Given the description of an element on the screen output the (x, y) to click on. 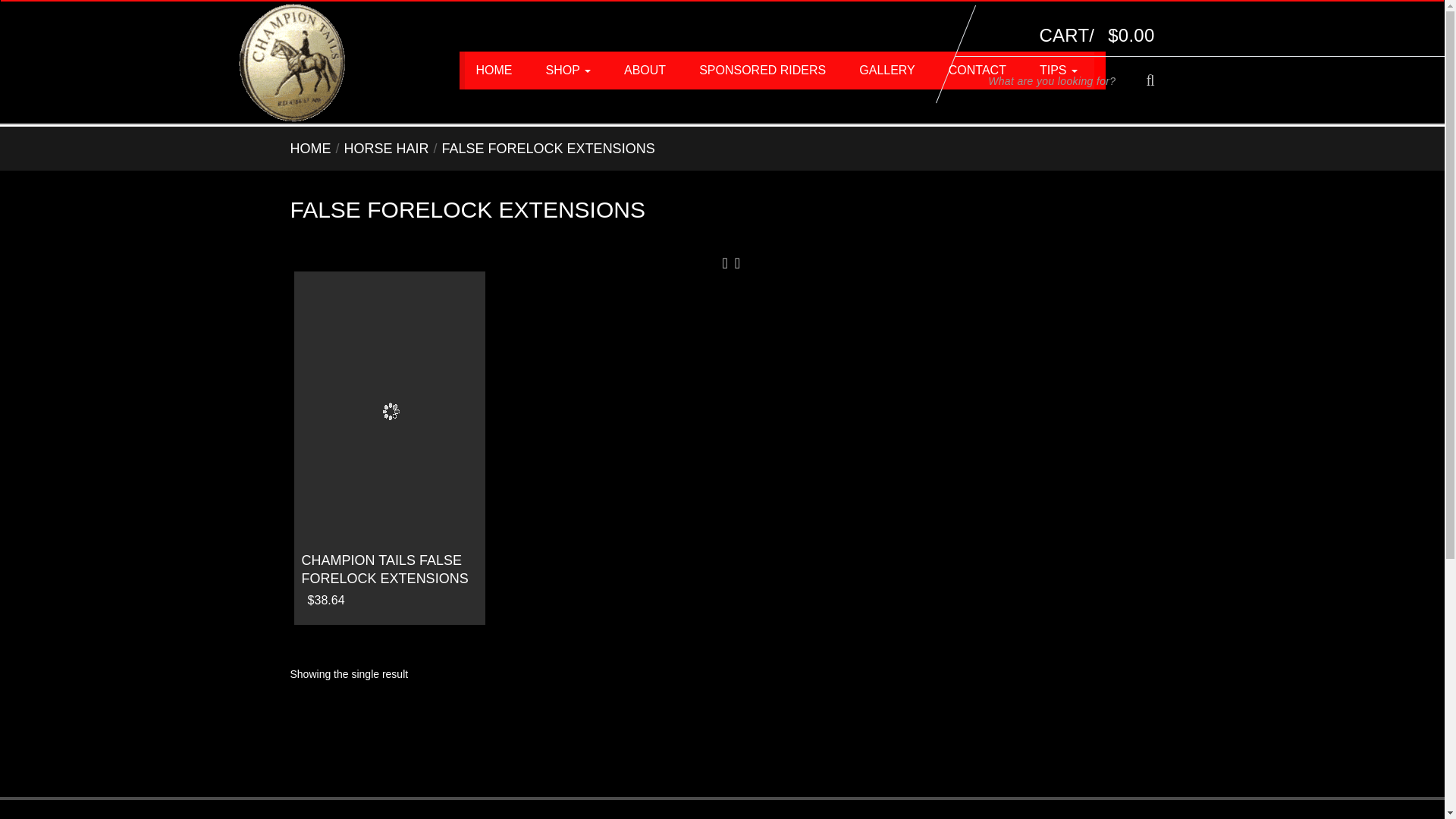
SPONSORED RIDERS (762, 70)
About (644, 70)
Contact (977, 70)
Tips (1058, 70)
ABOUT (644, 70)
Shop (568, 70)
Gallery (887, 70)
SHOP (568, 70)
Home (494, 70)
Sponsored Riders (762, 70)
